Given the description of an element on the screen output the (x, y) to click on. 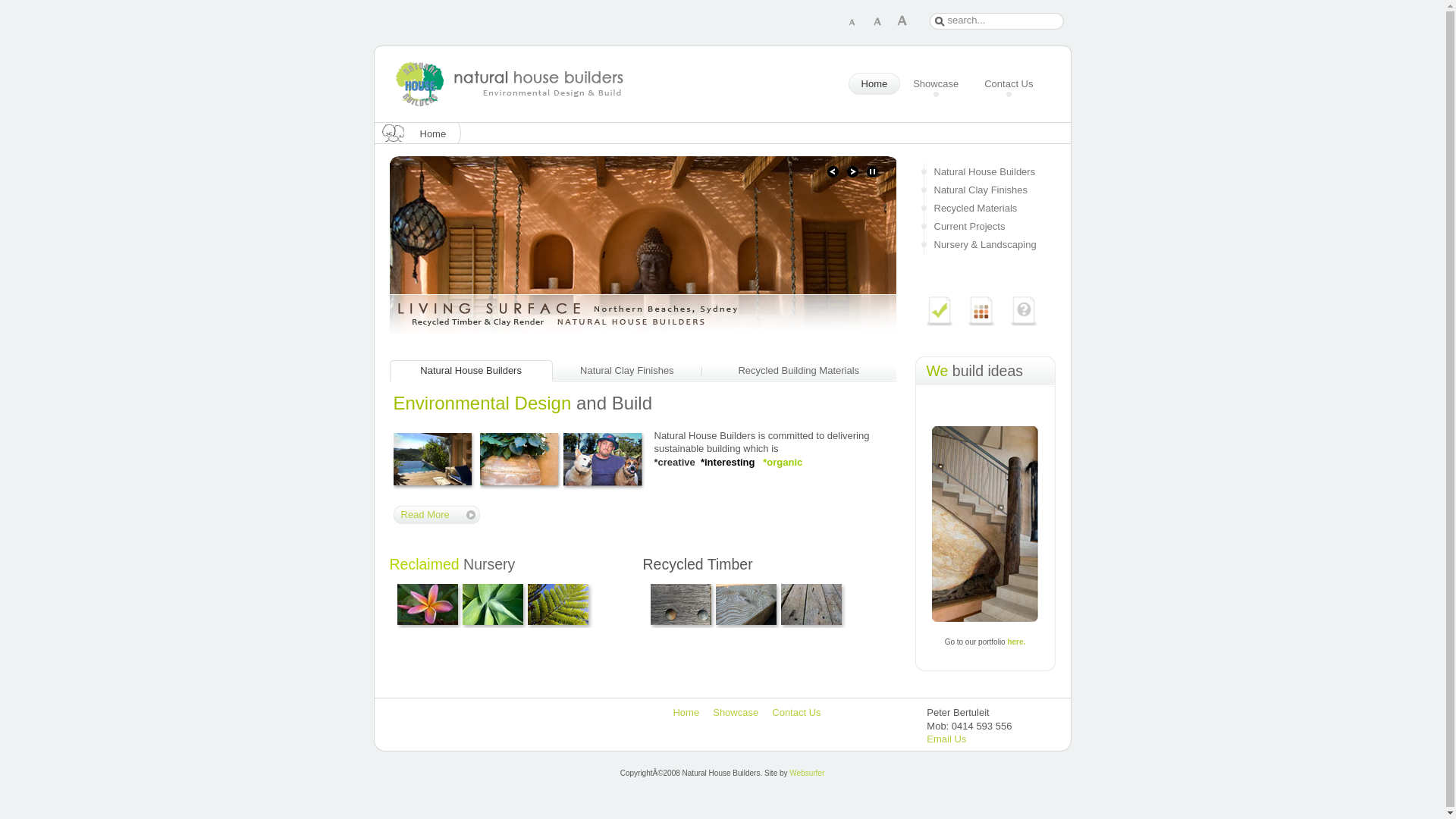
Websurfer Element type: text (806, 772)
Sustainable Building With Environmental Design Element type: hover (933, 322)
Building Green With Environmental Design Element type: hover (938, 310)
Recycled Materials Element type: text (984, 208)
We Love To Help! Element type: hover (1023, 310)
Home Element type: text (685, 712)
Nursery & Landscaping Element type: text (984, 244)
Natural Clay Finishes In Endless Colours Element type: hover (976, 322)
Natural Clay Finishes Element type: text (984, 190)
Contact Us Element type: text (795, 712)
Natural House Builders Element type: text (984, 172)
Current Projects Element type: text (984, 226)
here. Element type: text (1016, 640)
Showcase Element type: text (735, 712)
Natural Clay Finishes In Endless Colours Element type: hover (981, 310)
Contact Us Element type: text (1008, 84)
We Love To Help! Element type: hover (1018, 322)
Home Element type: text (874, 84)
Read More Element type: text (435, 514)
Email Us Element type: text (946, 738)
Showcase Element type: text (935, 84)
